Given the description of an element on the screen output the (x, y) to click on. 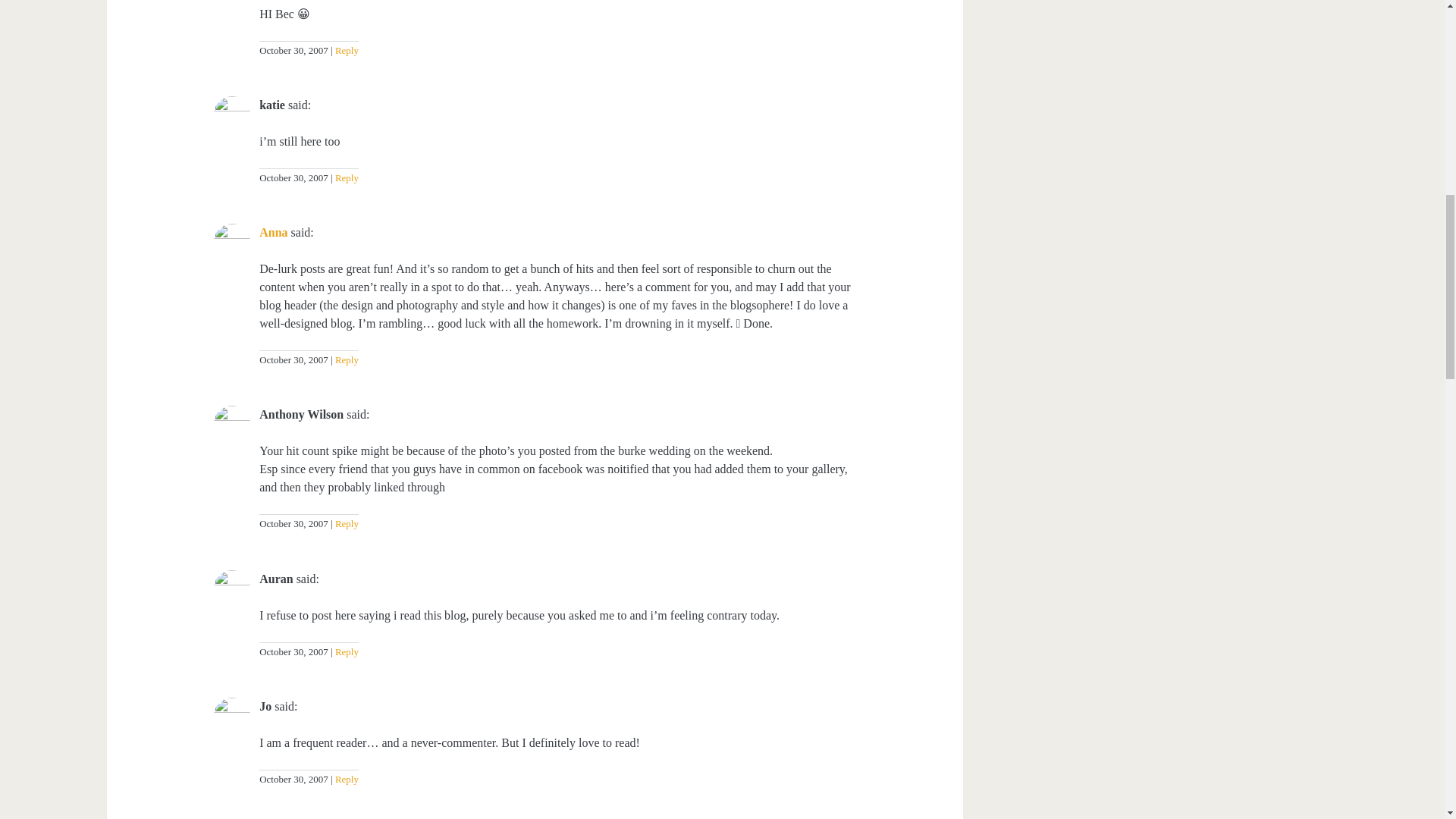
Reply (344, 50)
Reply (344, 177)
Reply (344, 523)
Reply (344, 359)
Anna (272, 232)
Reply (344, 651)
Reply (344, 778)
